Given the description of an element on the screen output the (x, y) to click on. 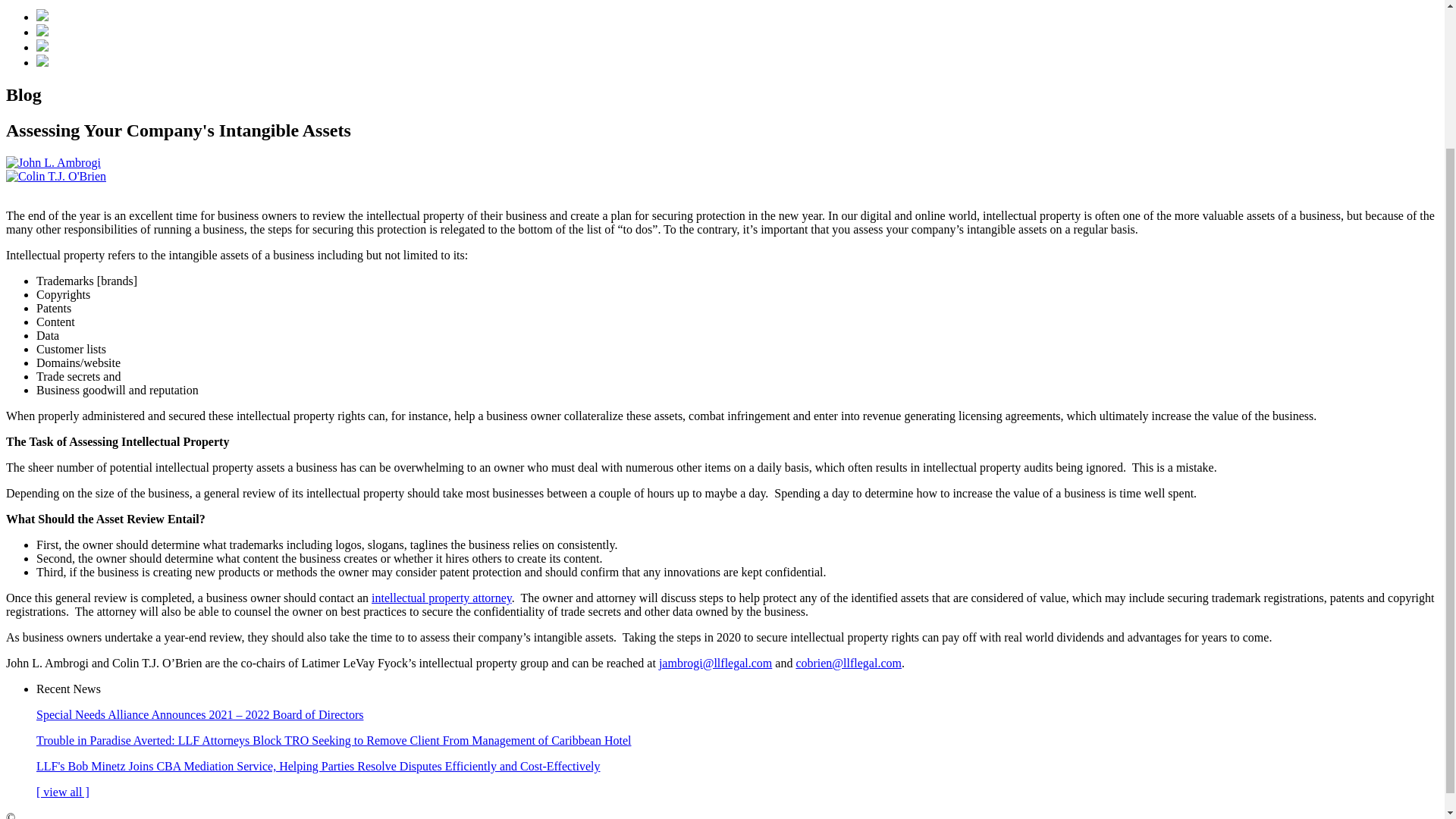
intellectual property attorney (441, 597)
Colin T.J. O'Brien (55, 175)
Download as PDF (42, 16)
John L. Ambrogi (52, 162)
